Given the description of an element on the screen output the (x, y) to click on. 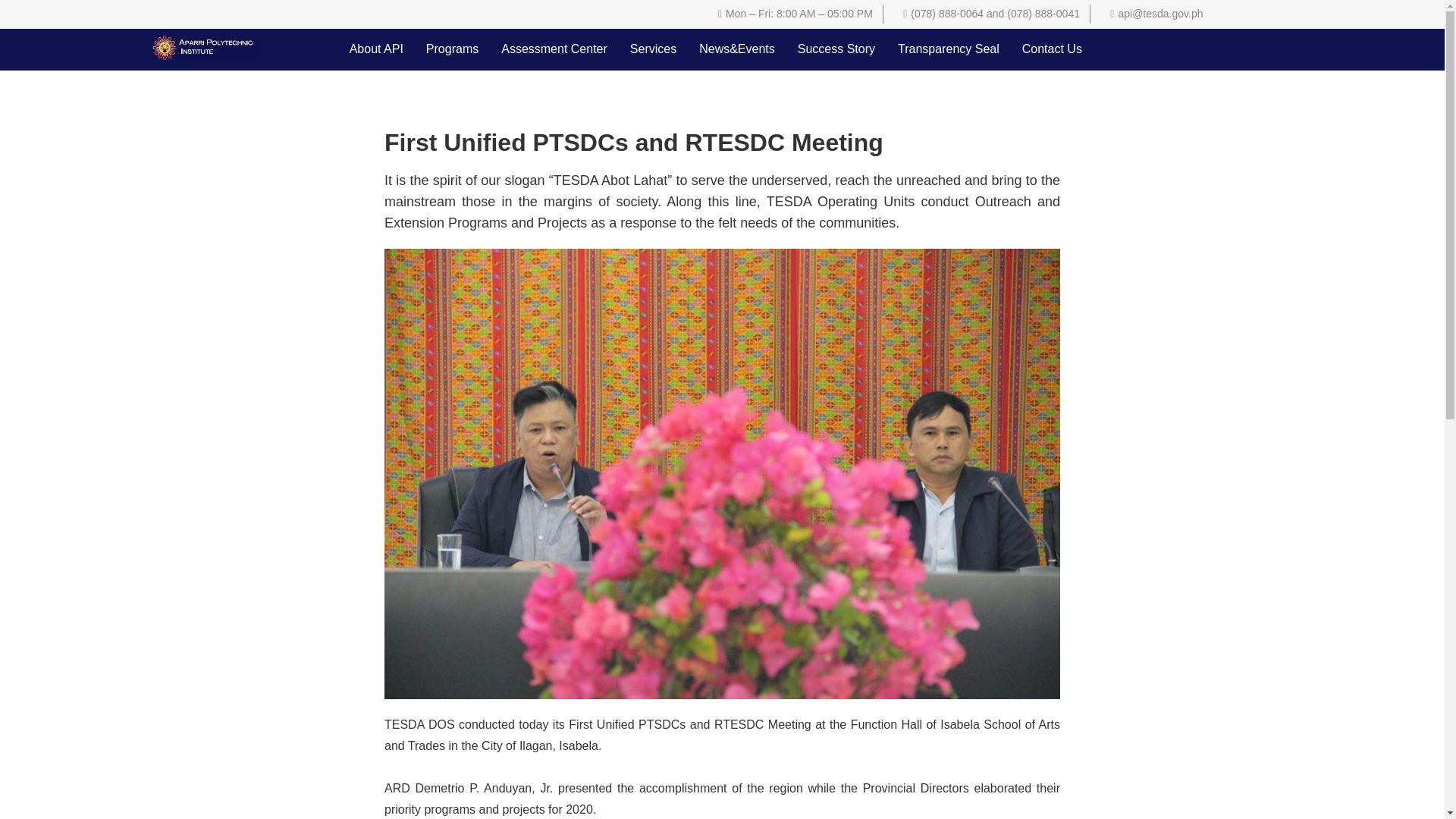
Programs (451, 48)
Transparency Seal (948, 48)
Assessment Center (553, 48)
Success Story (836, 48)
Services (652, 48)
Contact Us (1051, 48)
About API (375, 48)
